Given the description of an element on the screen output the (x, y) to click on. 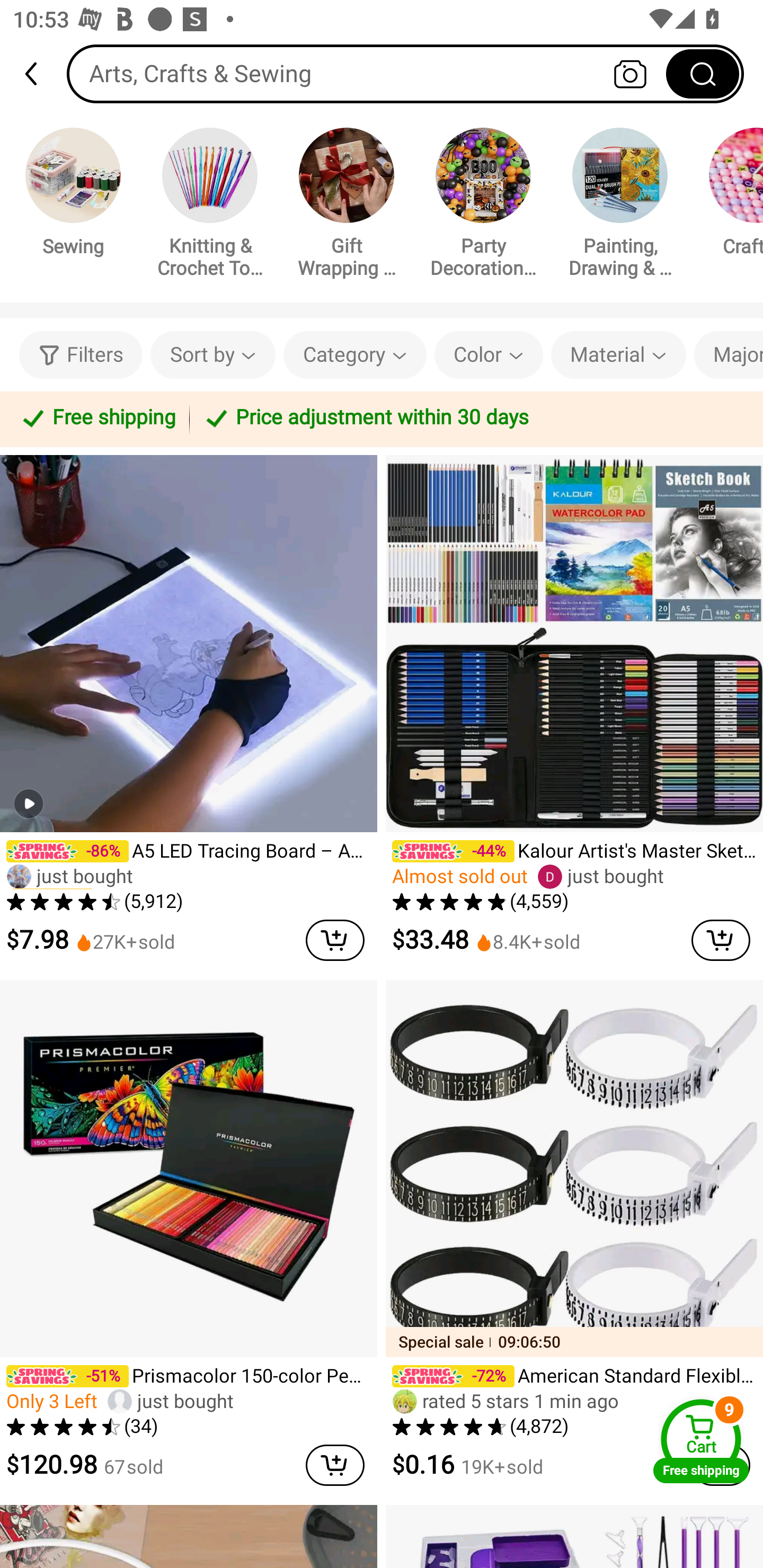
back (39, 73)
Arts, Crafts & Sewing (405, 73)
Sewing (73, 195)
Knitting & Crochet Tools (209, 205)
Gift Wrapping Supplies (346, 205)
Party Decorations & Supplies (483, 205)
Painting, Drawing & Art Supplies (619, 205)
Crafting (728, 195)
Filters (80, 354)
Sort by (212, 354)
Category (354, 354)
Color (488, 354)
Material (617, 354)
Free shipping (97, 418)
Price adjustment within 30 days (472, 418)
cart delete (334, 939)
cart delete (720, 939)
Cart Free shipping Cart (701, 1440)
cart delete (334, 1465)
